Given the description of an element on the screen output the (x, y) to click on. 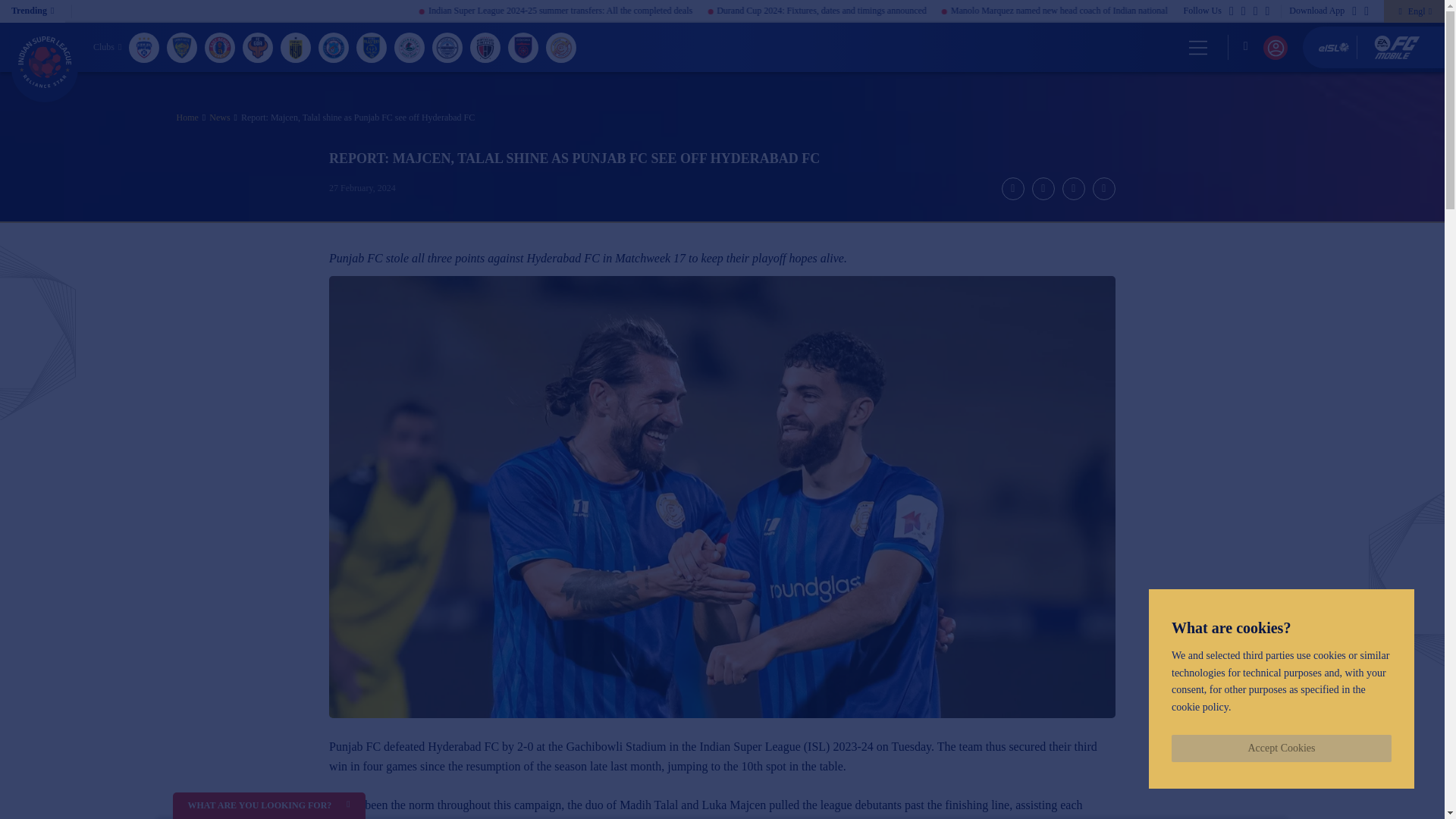
Manolo Marquez named new head coach of Indian national team (1180, 11)
Punjab FC (561, 46)
Durand Cup 2024: Fixtures, dates and timings announced (934, 11)
Chennaiyin FC (181, 46)
Odisha FC (523, 46)
East Bengal FC (219, 46)
NorthEast United FC (485, 46)
FC Goa (258, 46)
Jamshedpur FC (333, 46)
